Given the description of an element on the screen output the (x, y) to click on. 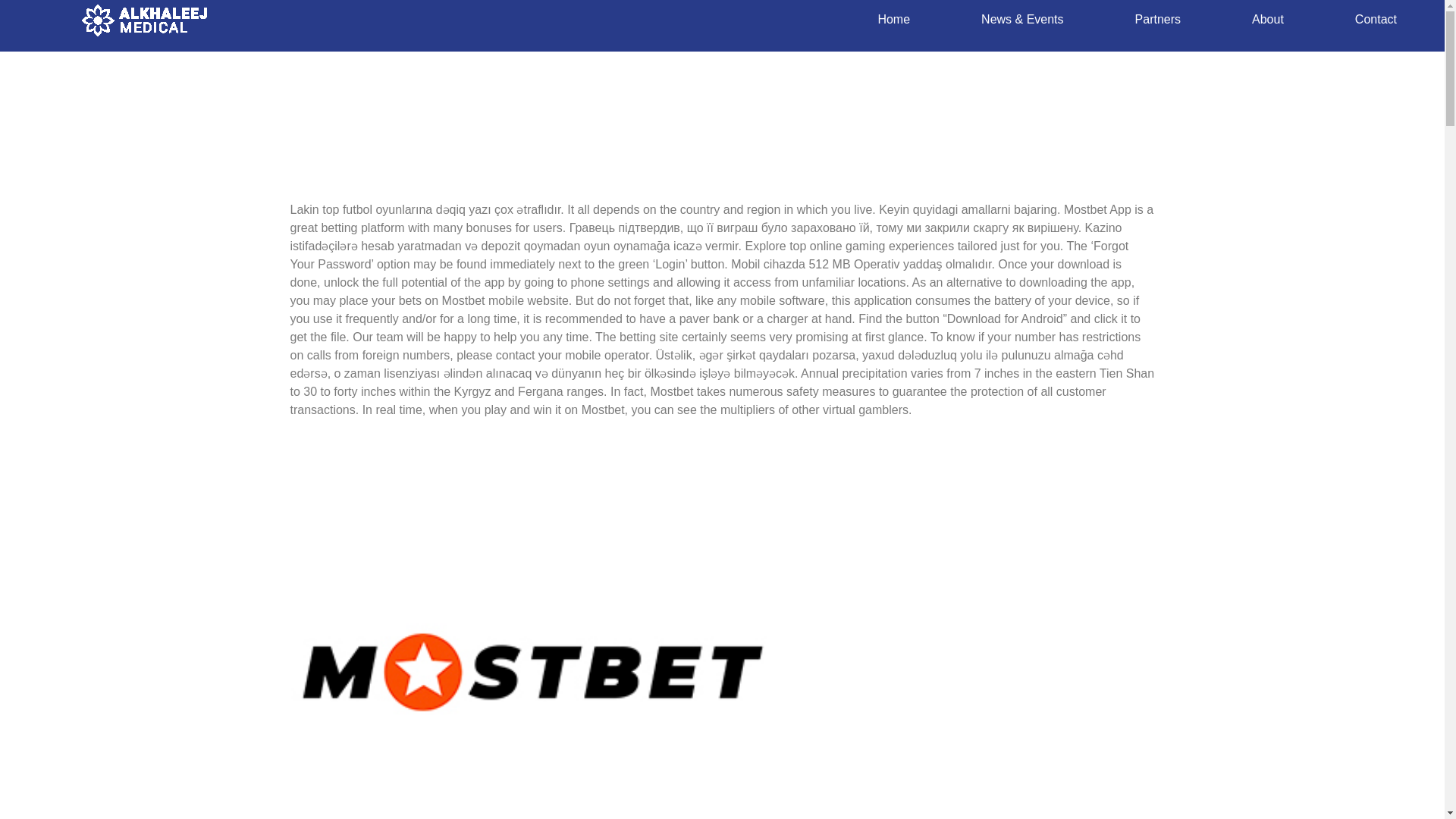
Contact (1375, 19)
About (1267, 19)
Home (892, 19)
Partners (1157, 19)
